Given the description of an element on the screen output the (x, y) to click on. 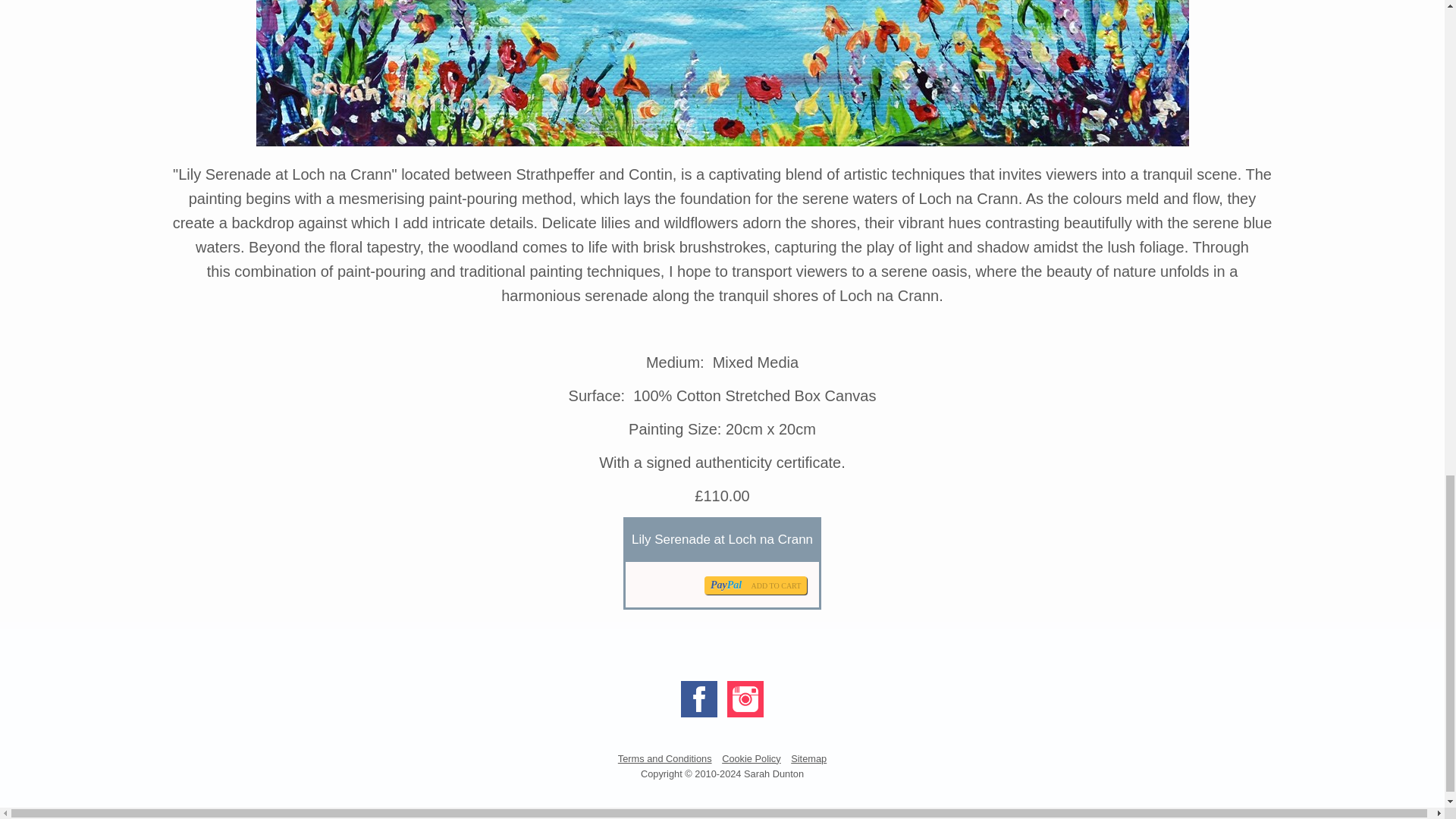
Instagram (744, 698)
Cookie Policy (750, 758)
Facebook (699, 698)
Facebook (699, 698)
Terms and Conditions (665, 758)
Sitemap (808, 758)
Instagram (744, 698)
PayPal ADD TO CART (755, 585)
